Given the description of an element on the screen output the (x, y) to click on. 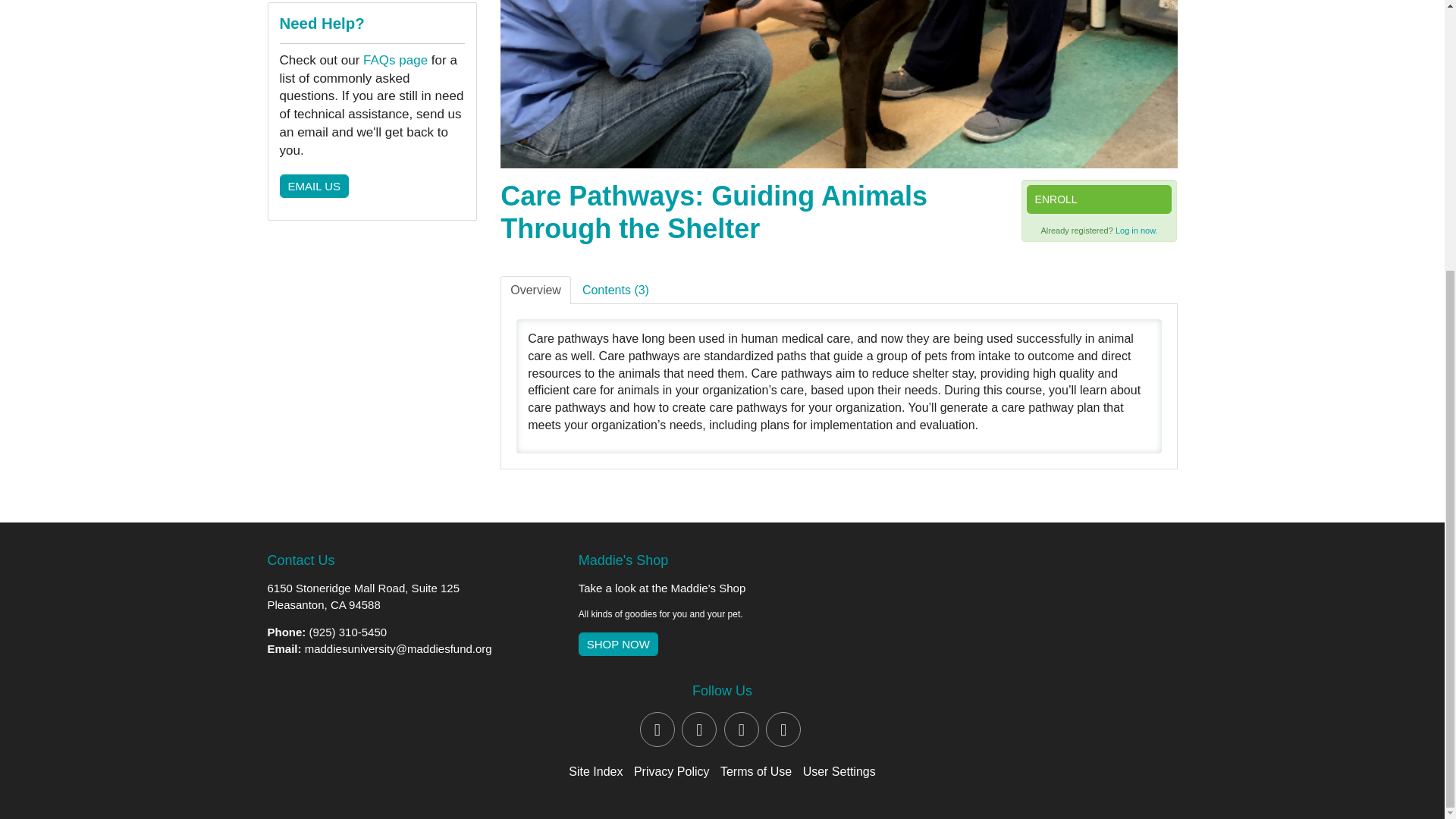
Find (300, 177)
Privacy Policy (671, 771)
Log in now. (1136, 365)
Site Index (596, 771)
-- (362, 14)
ENROLL (1099, 334)
User Settings (839, 771)
SHOP NOW (618, 644)
Find (300, 177)
Terms of Use (756, 771)
